Given the description of an element on the screen output the (x, y) to click on. 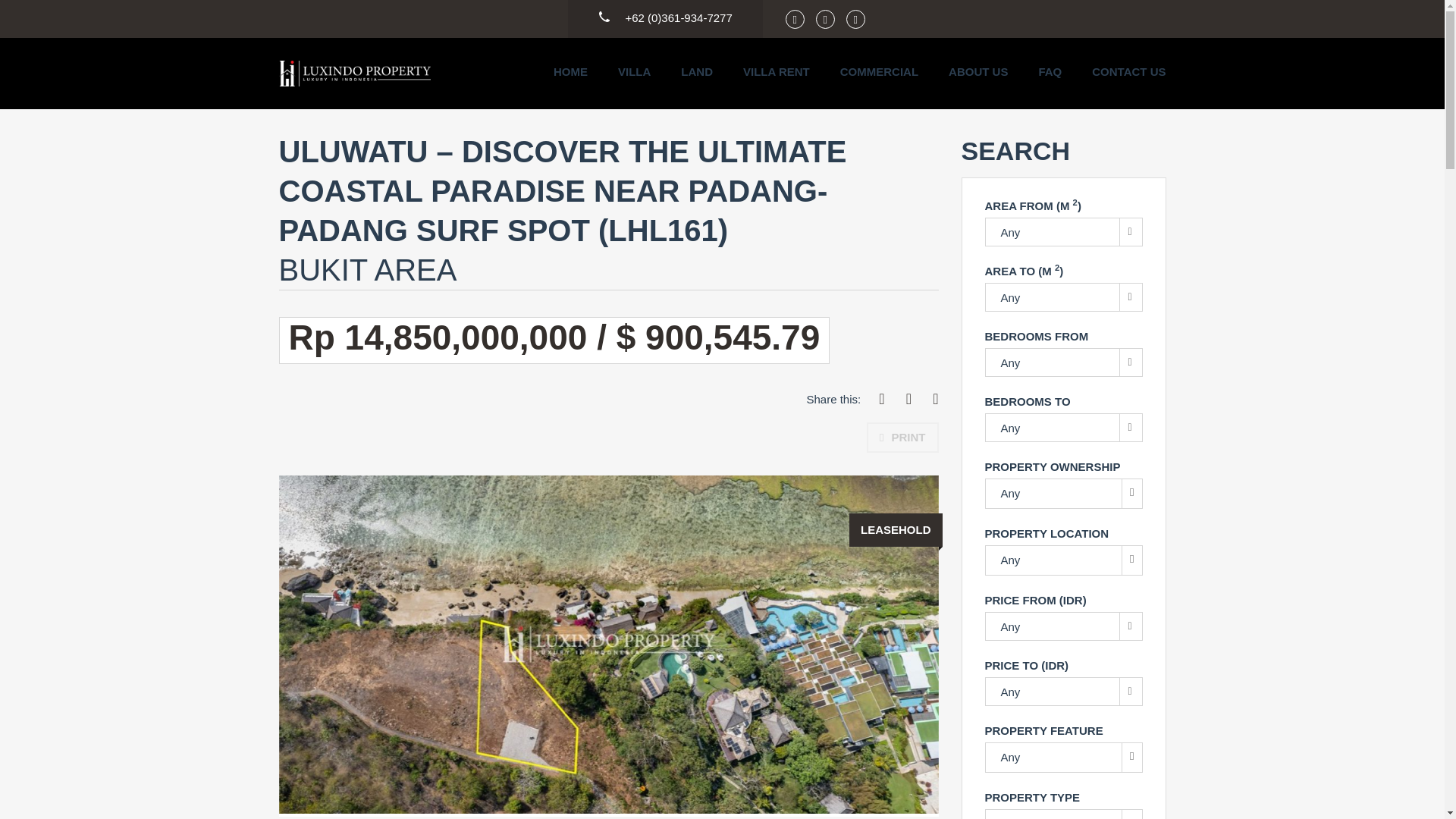
ABOUT US (978, 72)
Luxindo Property (354, 73)
FAQ (1049, 72)
CONTACT US (1129, 72)
COMMERCIAL (879, 72)
HOME (570, 72)
LAND (697, 72)
VILLA RENT (775, 72)
VILLA (633, 72)
PRINT (901, 437)
